Given the description of an element on the screen output the (x, y) to click on. 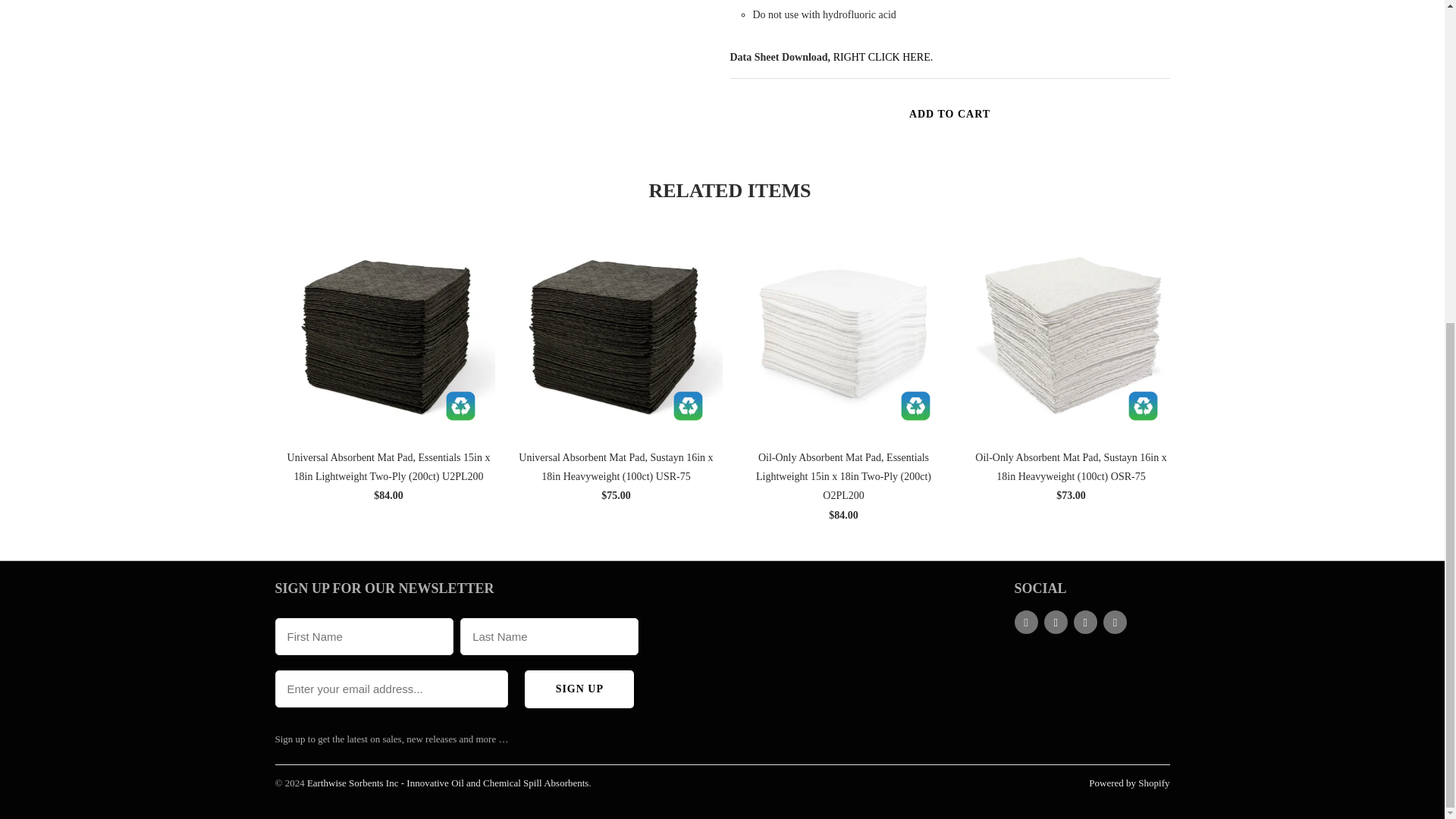
Sign Up (578, 689)
Download Data Sheet (882, 57)
ADD TO CART (949, 113)
Powered by Shopify (1129, 782)
Sign Up (578, 689)
RIGHT CLICK HERE. (882, 57)
